Given the description of an element on the screen output the (x, y) to click on. 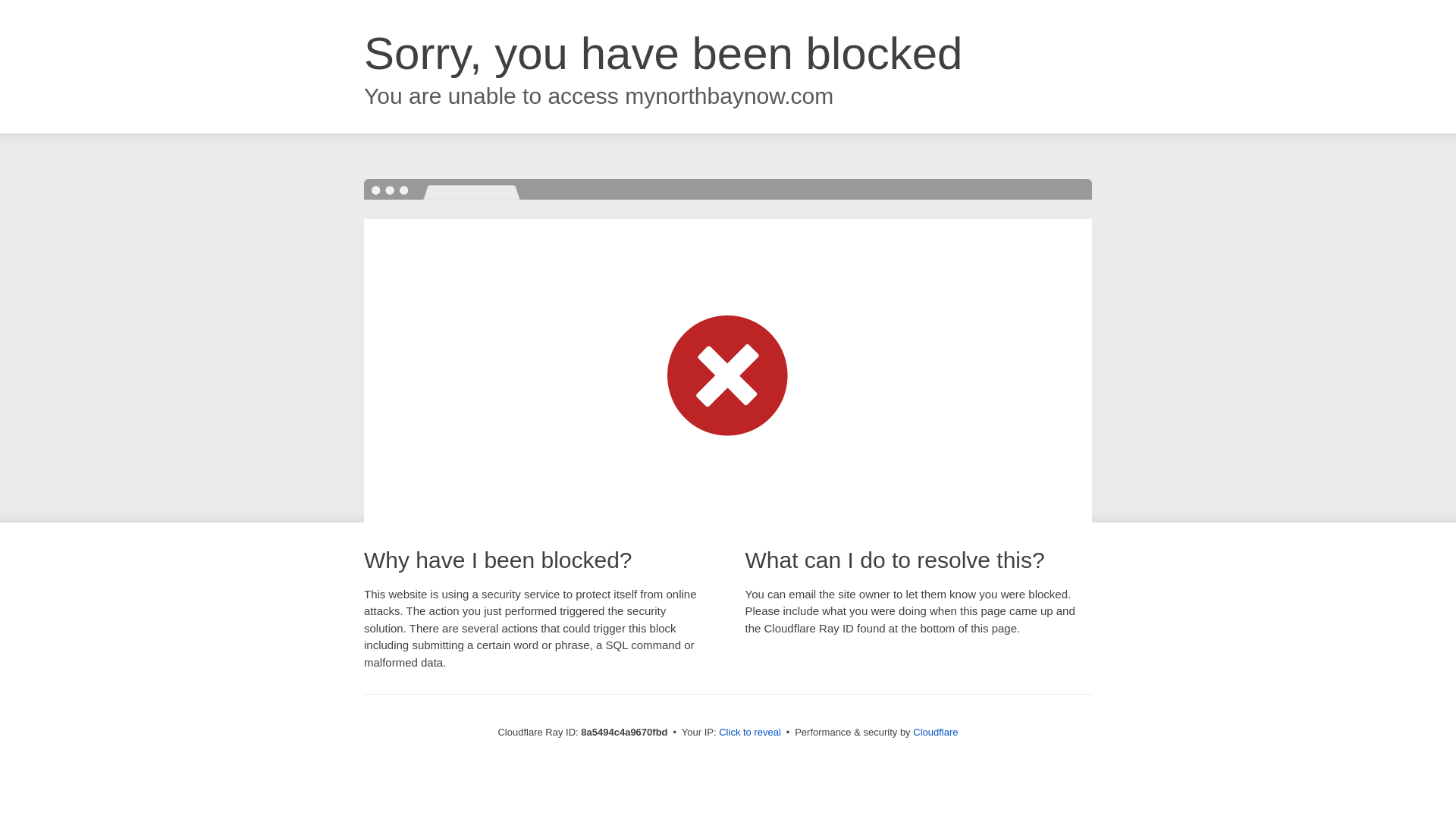
Click to reveal (749, 732)
Cloudflare (935, 731)
